Given the description of an element on the screen output the (x, y) to click on. 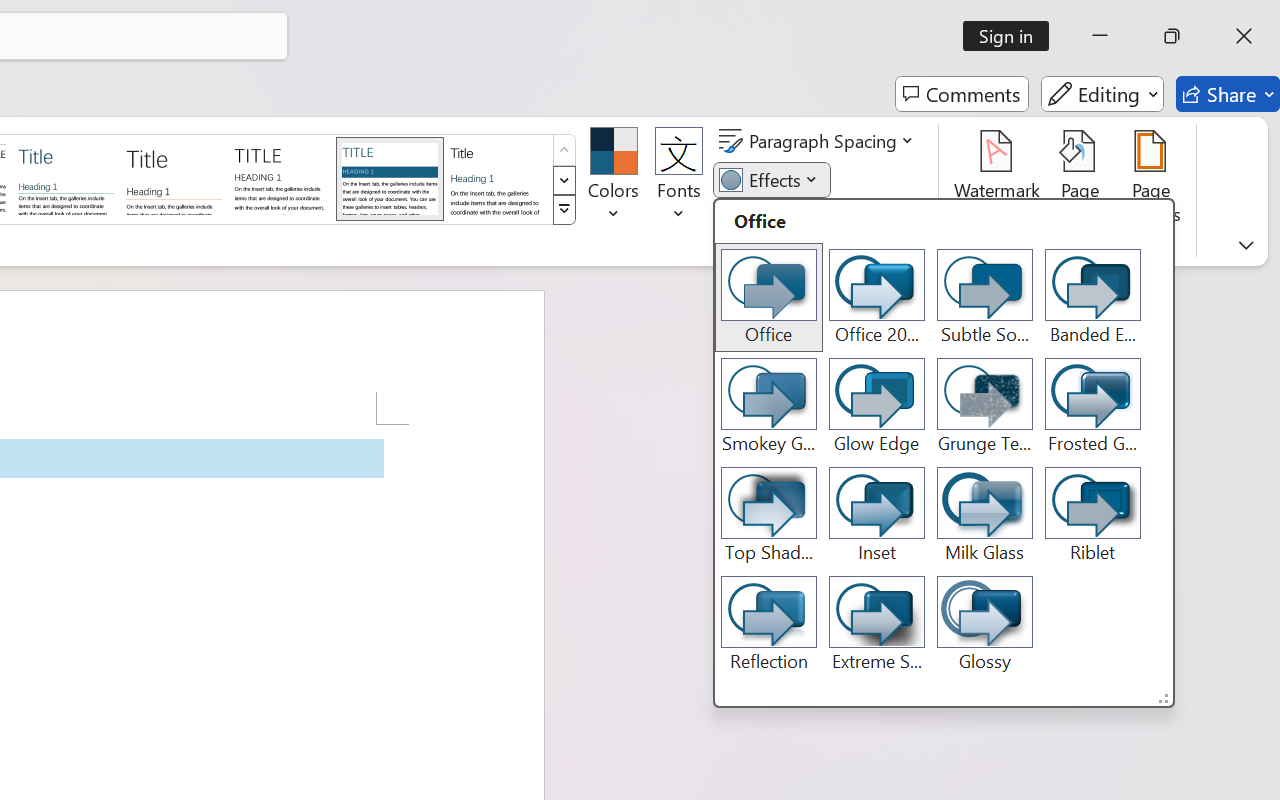
Style Set (564, 209)
Word (497, 178)
Effects (771, 179)
Paragraph Spacing (819, 141)
Editing (1101, 94)
